Given the description of an element on the screen output the (x, y) to click on. 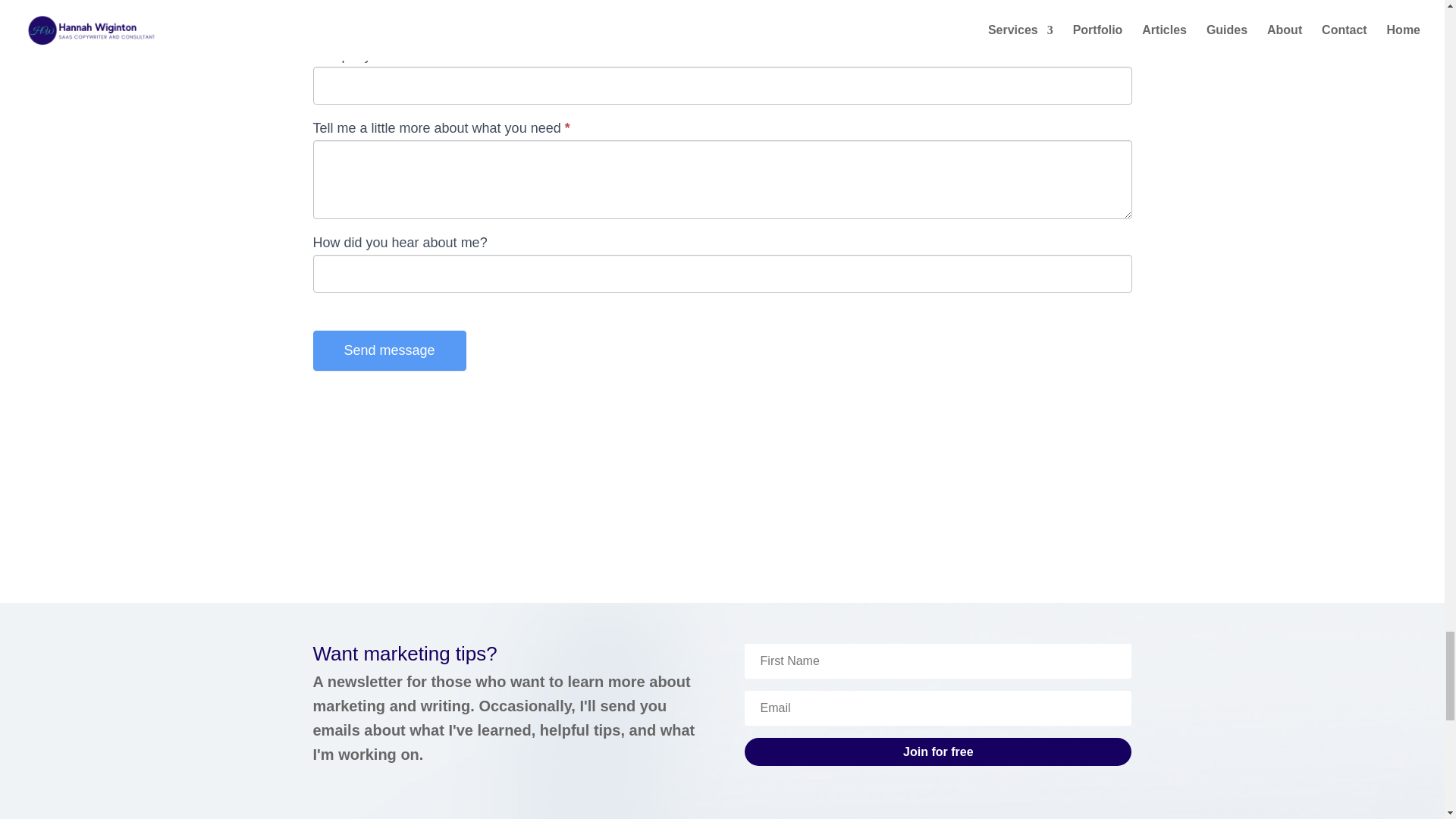
Send message (389, 350)
Join for free (937, 751)
